Given the description of an element on the screen output the (x, y) to click on. 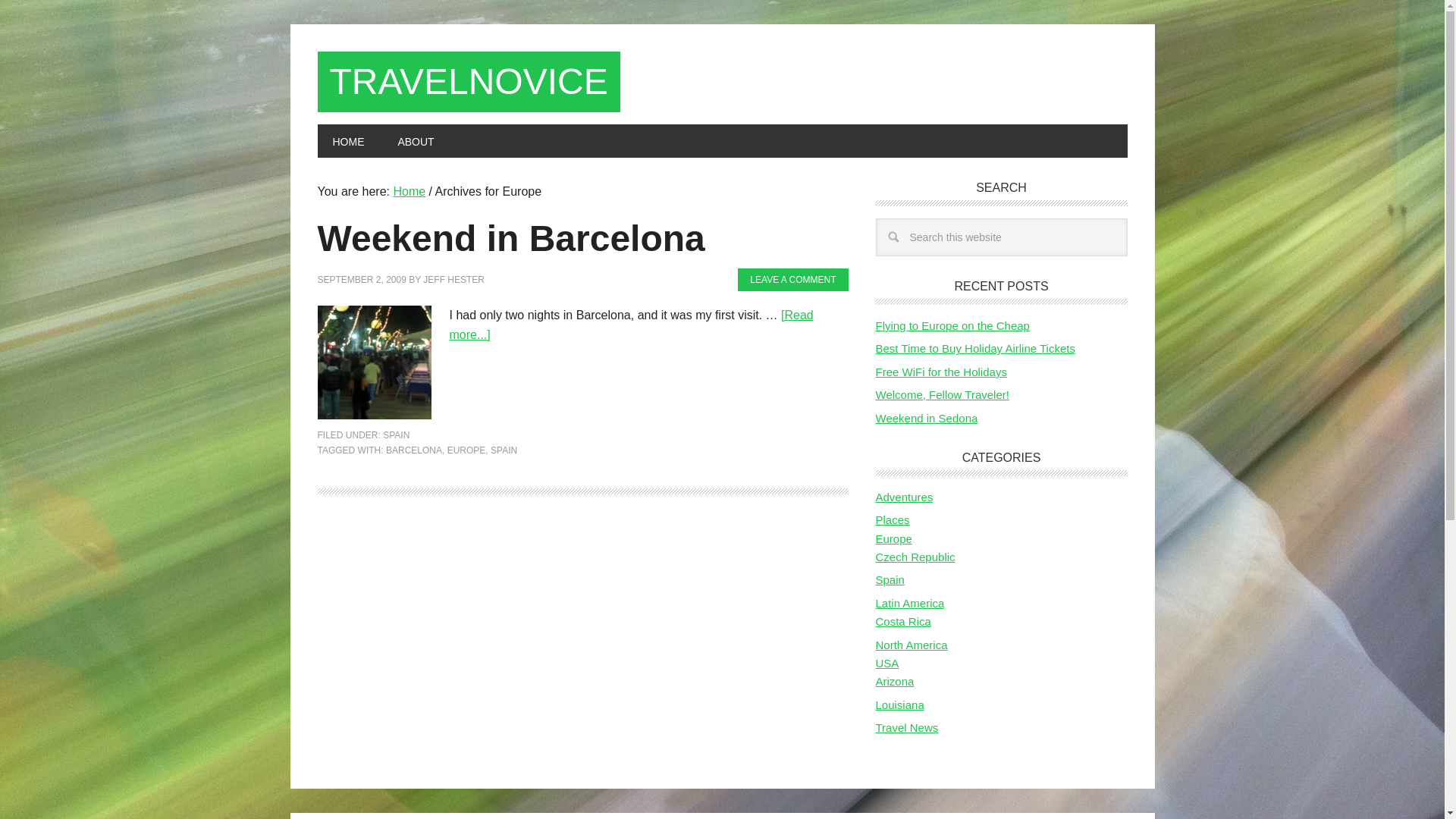
Weekend in Barcelona (510, 238)
JEFF HESTER (453, 279)
Czech Republic (915, 556)
SPAIN (503, 450)
Adventures (904, 496)
Weekend in Sedona (925, 417)
HOME (347, 141)
Travel News (906, 727)
Louisiana (899, 704)
Arizona (894, 680)
Costa Rica (902, 621)
TRAVELNOVICE (468, 81)
Spain (889, 579)
